Given the description of an element on the screen output the (x, y) to click on. 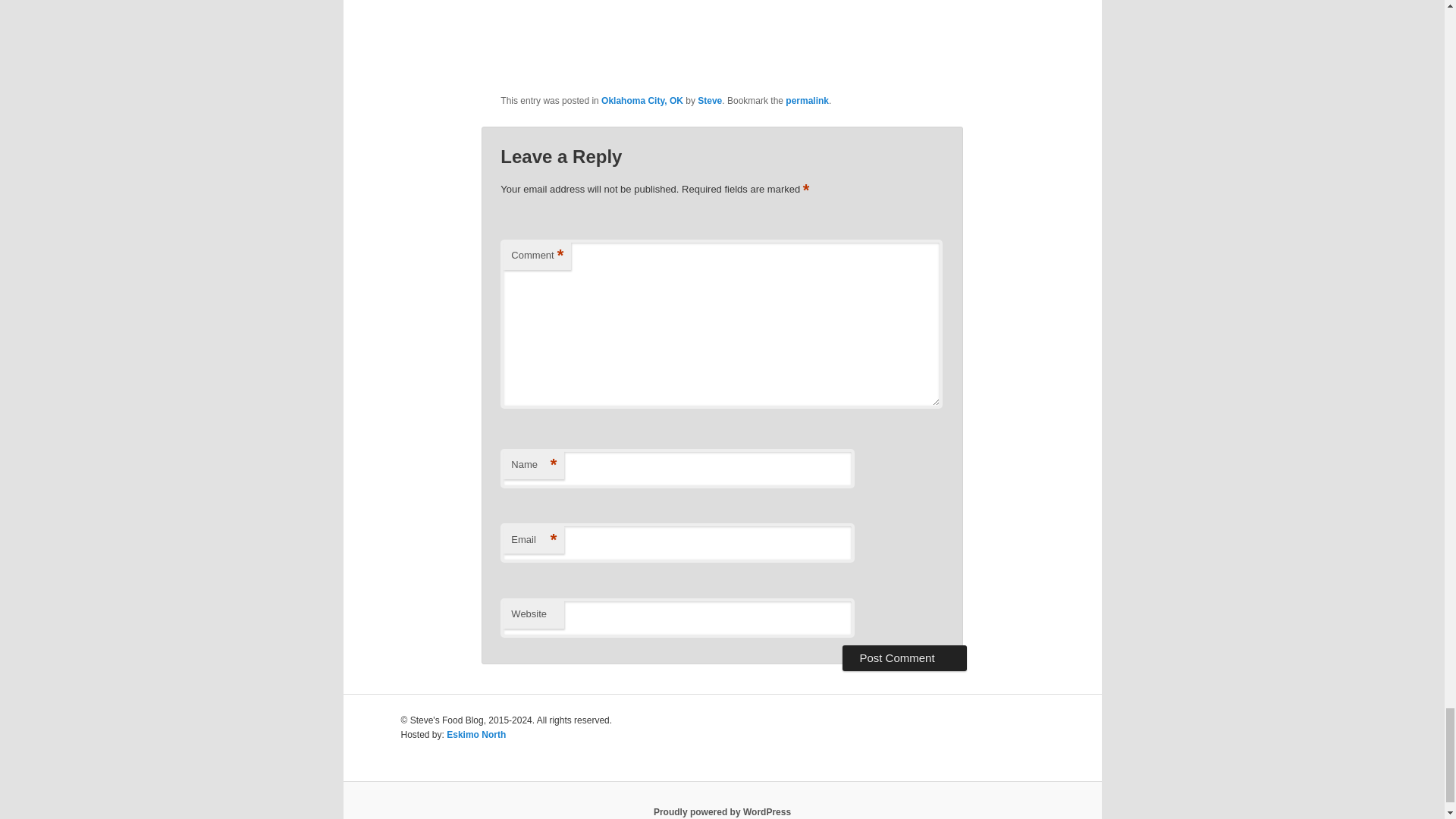
Post Comment (904, 657)
permalink (807, 100)
Semantic Personal Publishing Platform (721, 811)
Eskimo North (475, 734)
Oklahoma City, OK (641, 100)
Post Comment (904, 657)
Steve (709, 100)
